Given the description of an element on the screen output the (x, y) to click on. 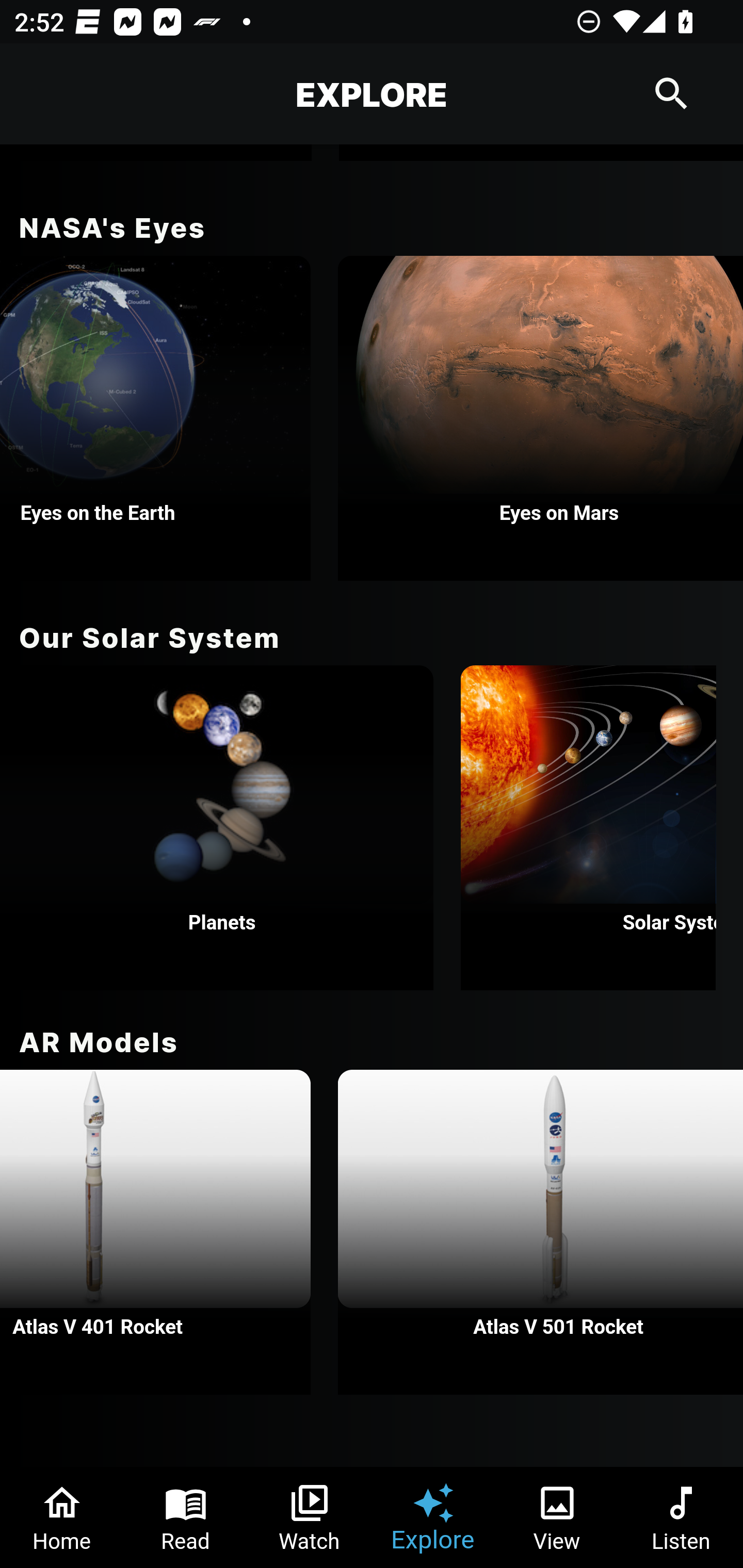
Eyes on the Earth (155, 417)
Eyes on Mars (540, 417)
Planets (216, 827)
Solar System (588, 827)
Atlas V 401 Rocket (155, 1231)
Atlas V 501 Rocket (540, 1231)
Home
Tab 1 of 6 (62, 1517)
Read
Tab 2 of 6 (185, 1517)
Watch
Tab 3 of 6 (309, 1517)
Explore
Tab 4 of 6 (433, 1517)
View
Tab 5 of 6 (556, 1517)
Listen
Tab 6 of 6 (680, 1517)
